Given the description of an element on the screen output the (x, y) to click on. 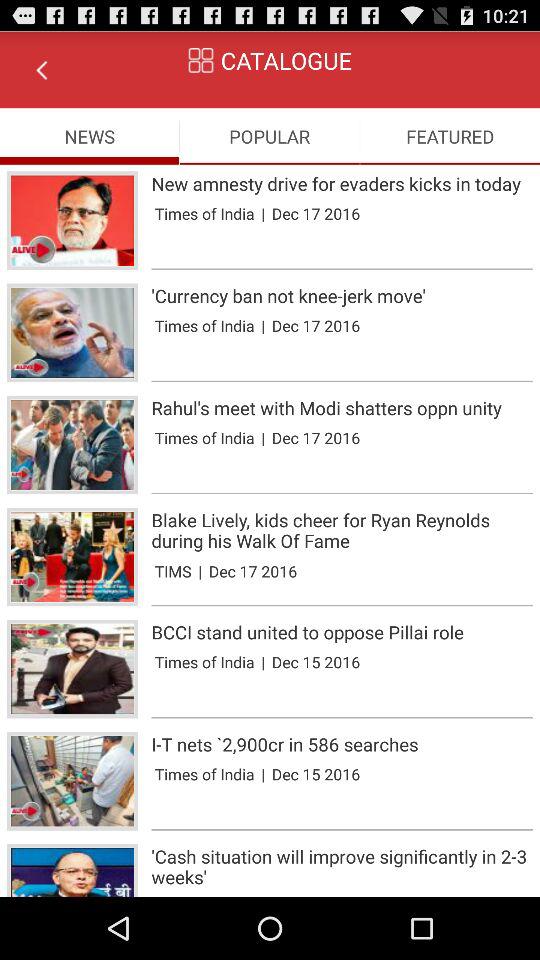
press the app above the times of india icon (342, 295)
